Given the description of an element on the screen output the (x, y) to click on. 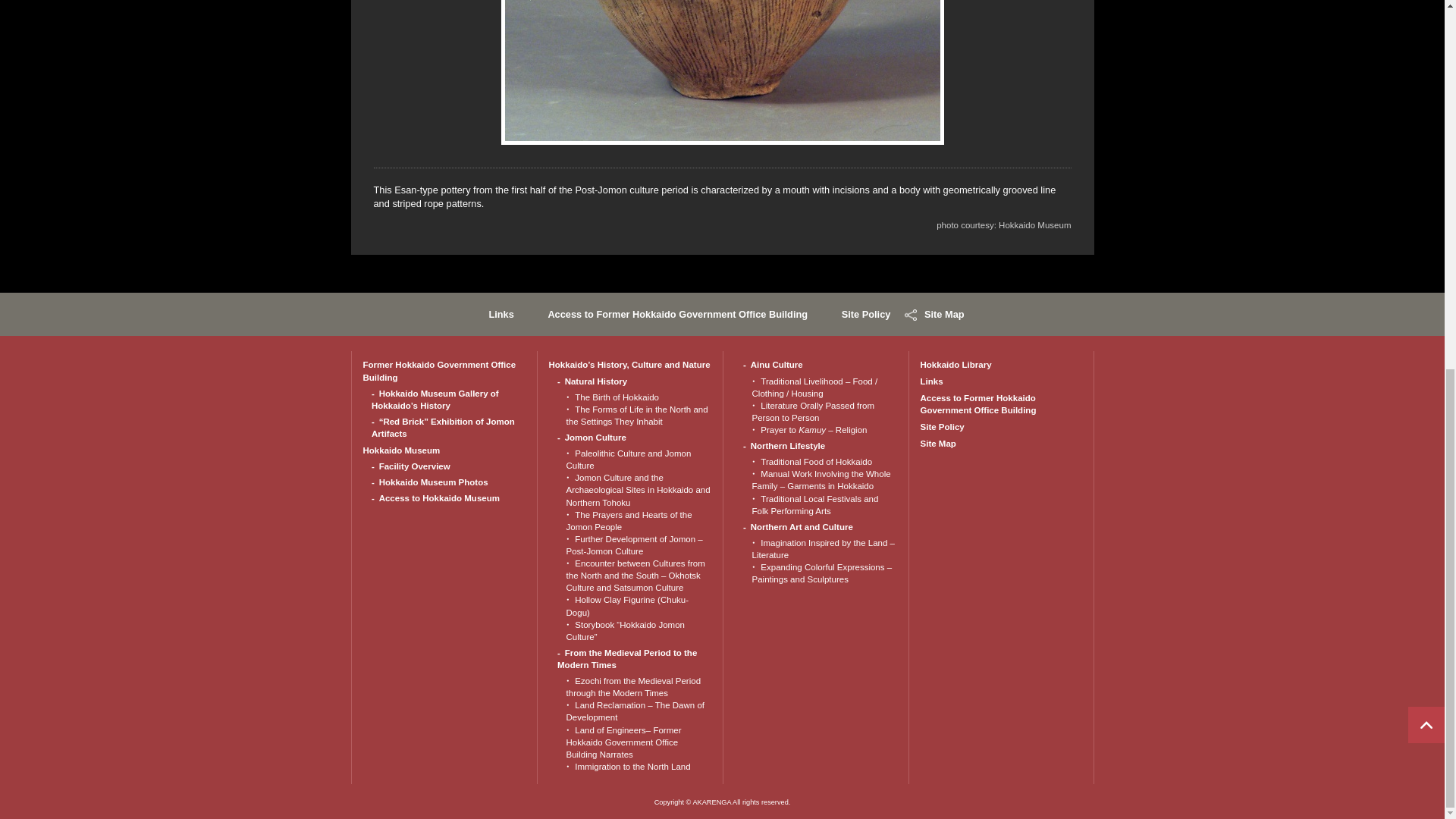
Hokkaido Museum (400, 450)
Links (500, 314)
Facility Overview (413, 465)
Former Hokkaido Government Office Building (438, 370)
Access to Former Hokkaido Government Office Building (677, 314)
Access to Hokkaido Museum (438, 497)
Site Map (943, 314)
Hokkaido Museum Photos (432, 481)
Site Policy (866, 314)
